Given the description of an element on the screen output the (x, y) to click on. 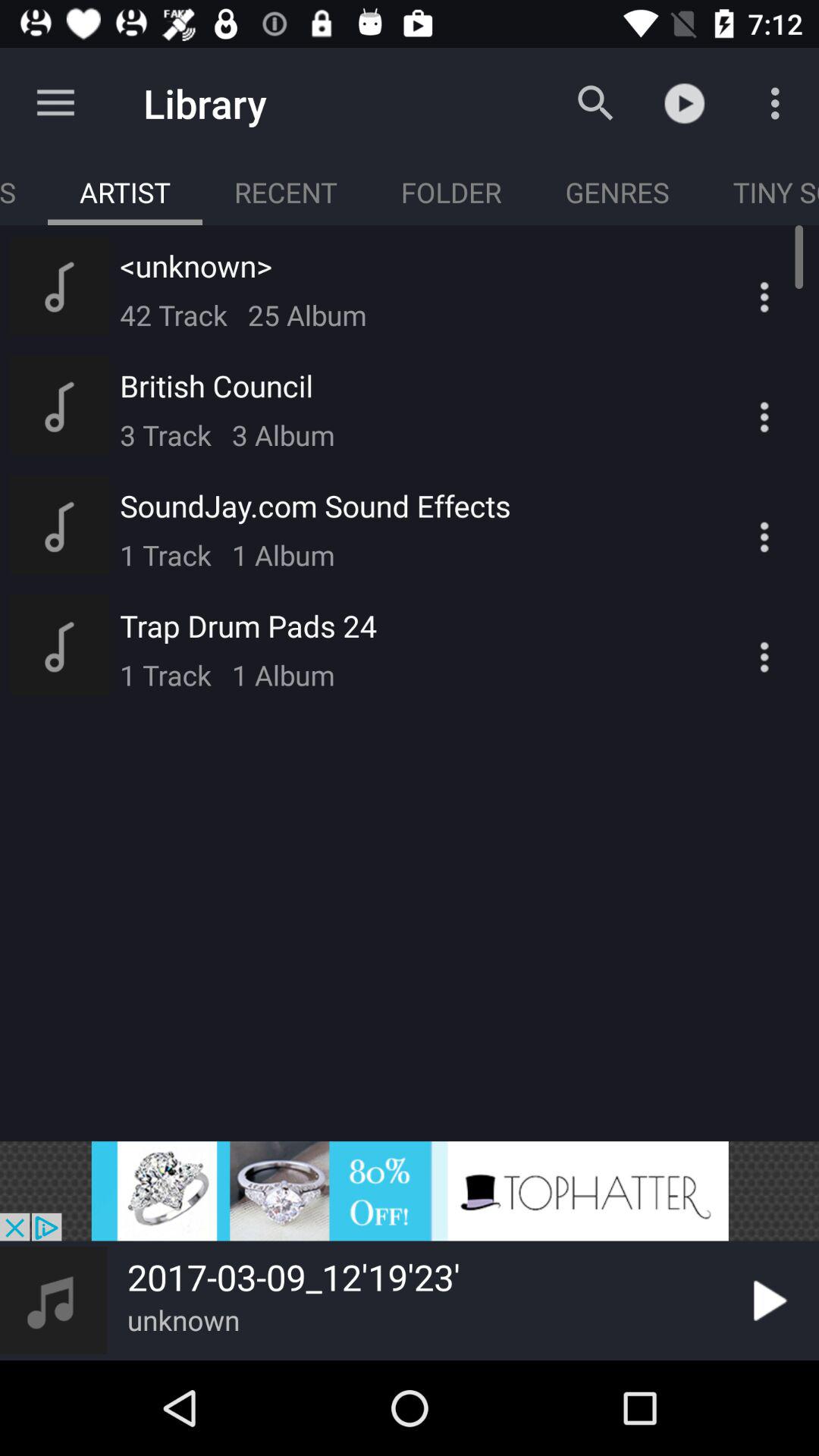
select the symbol which is to the immediate right of the search button (691, 103)
move to floder tab (451, 191)
click on play button (767, 1300)
select the option artist on page (124, 191)
select the search button on a page (595, 103)
click on icon which is at the last of the list (737, 644)
select third more option which is below tiny s (737, 525)
